Given the description of an element on the screen output the (x, y) to click on. 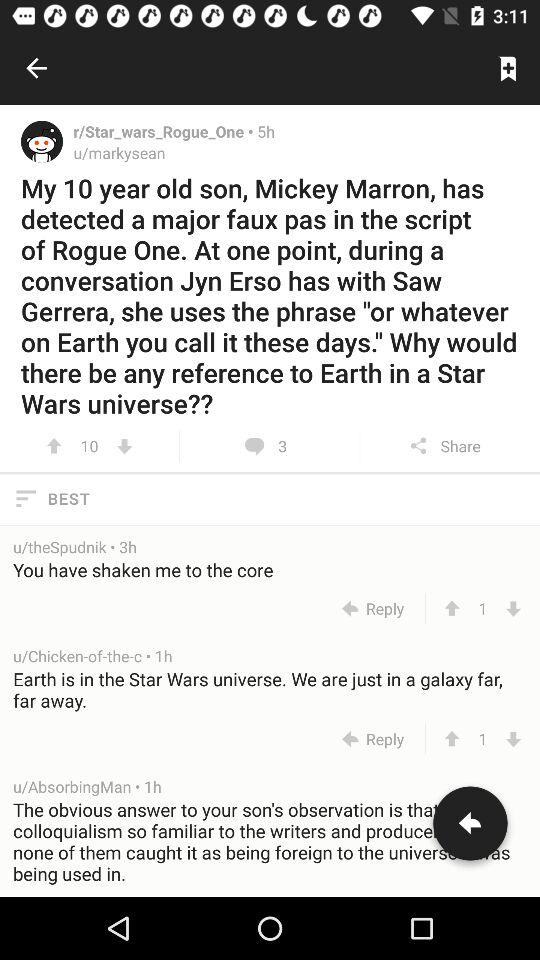
instead of whatever on earth why not say whatever in the galaxy (124, 446)
